Given the description of an element on the screen output the (x, y) to click on. 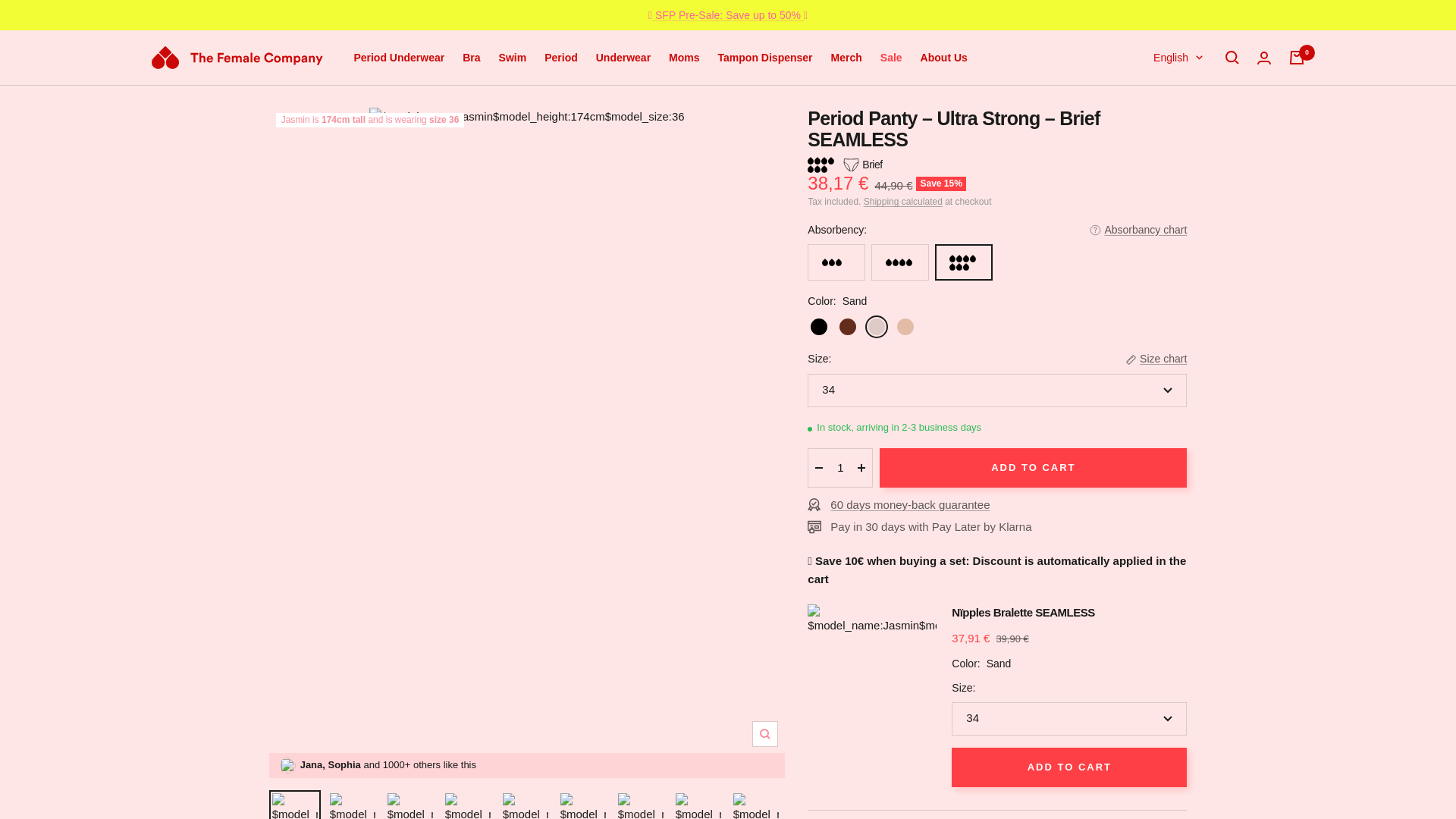
Bra (471, 57)
Period Underwear (398, 57)
Underwear (622, 57)
Sale (891, 57)
About Us (944, 57)
0 (1296, 57)
Merch (846, 57)
Tampon Dispenser (764, 57)
English (1177, 57)
Swim (513, 57)
Moms (683, 57)
de (1169, 131)
en (1169, 108)
Period (561, 57)
